Given the description of an element on the screen output the (x, y) to click on. 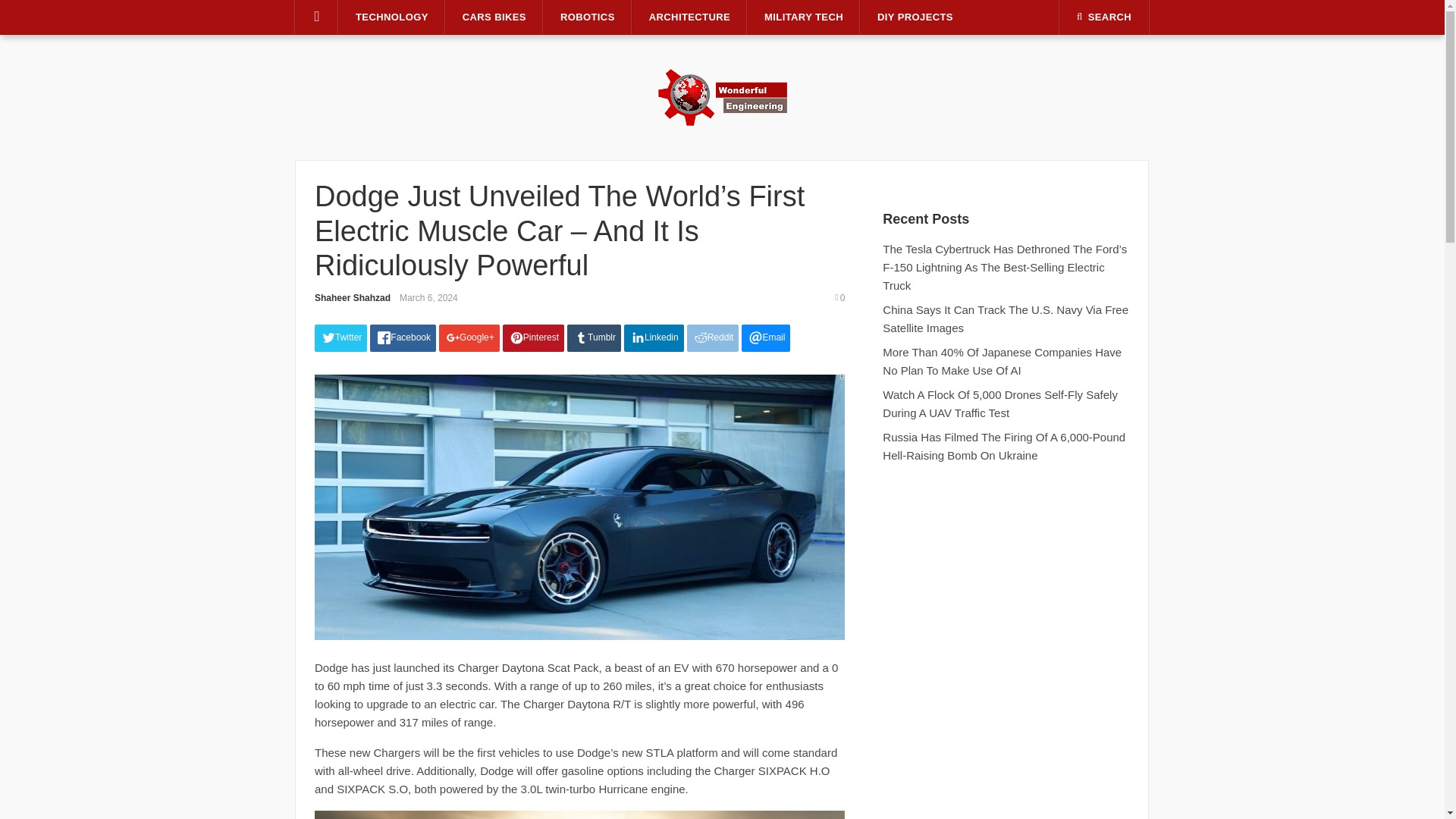
Pinterest (533, 338)
Wonderful Engineering (722, 95)
ROBOTICS (587, 17)
Email (765, 338)
Shaheer Shahzad (352, 297)
DIY PROJECTS (914, 17)
SEARCH (1104, 16)
Tumblr (594, 338)
ARCHITECTURE (688, 17)
Linkedin (654, 338)
CARS BIKES (494, 17)
Twitter (340, 338)
Reddit (713, 338)
TECHNOLOGY (392, 17)
MILITARY TECH (804, 17)
